Given the description of an element on the screen output the (x, y) to click on. 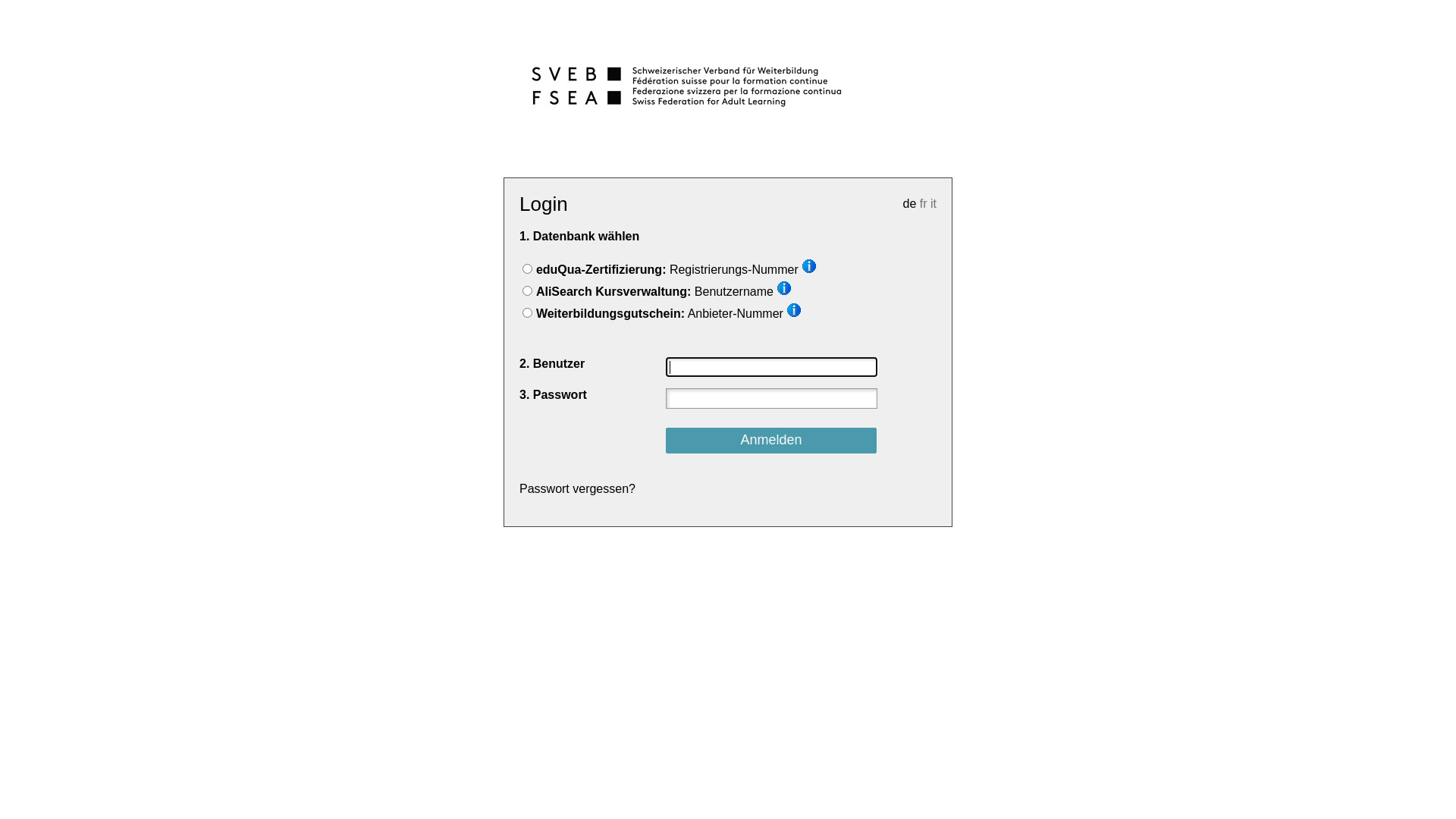
fr Element type: text (923, 203)
it Element type: text (933, 203)
Anmelden Element type: text (771, 440)
Login Element type: hover (527, 312)
Login Element type: hover (527, 290)
Login Element type: hover (527, 268)
